Given the description of an element on the screen output the (x, y) to click on. 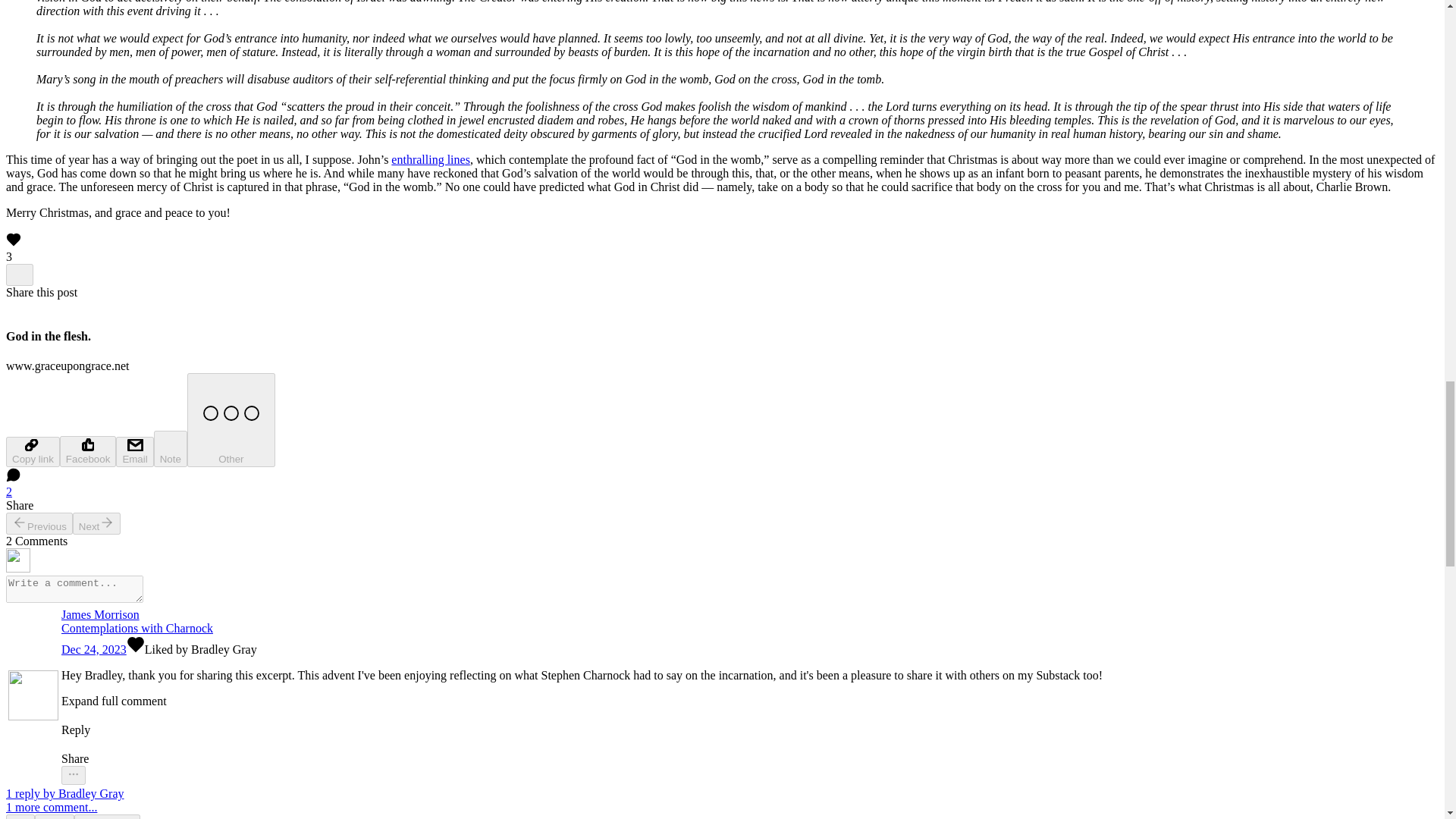
Note (170, 448)
Email (134, 451)
Other (231, 419)
James Morrison (581, 614)
enthralling lines (430, 159)
Previous (38, 523)
Facebook (87, 450)
Copy link (32, 451)
Next (96, 523)
